Given the description of an element on the screen output the (x, y) to click on. 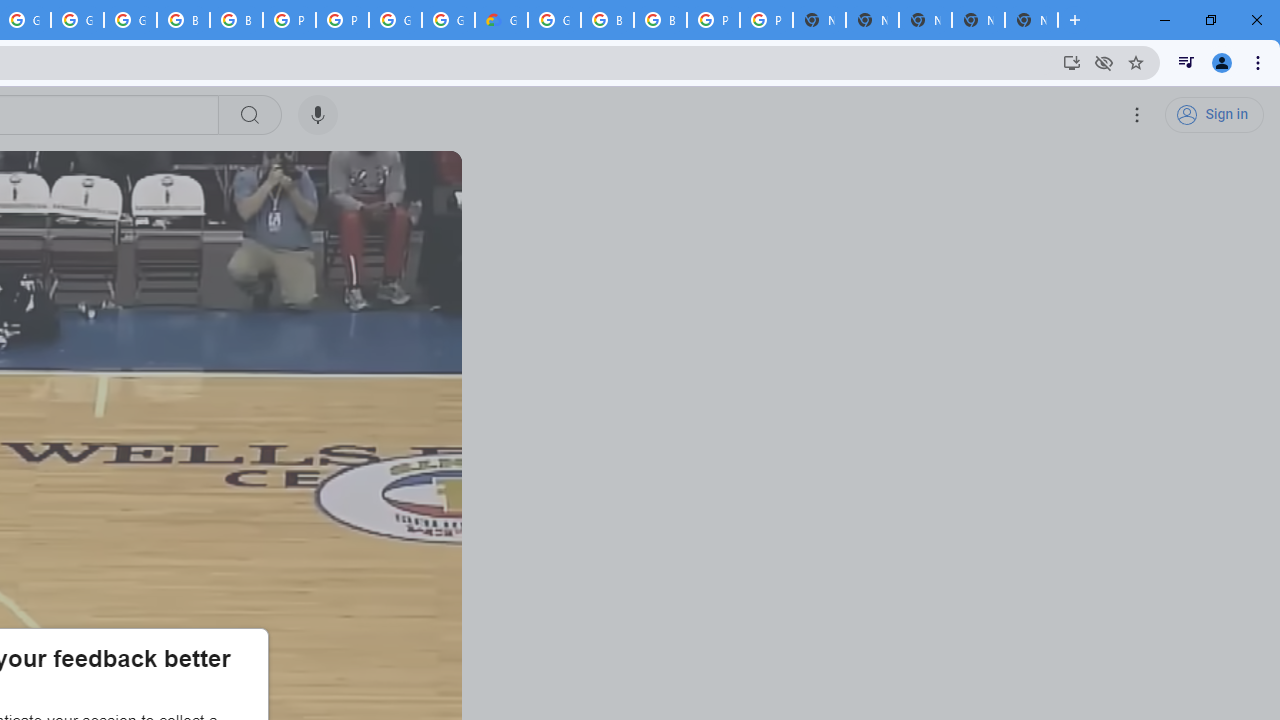
Install YouTube (1071, 62)
Google Cloud Platform (448, 20)
New Tab (1031, 20)
